Given the description of an element on the screen output the (x, y) to click on. 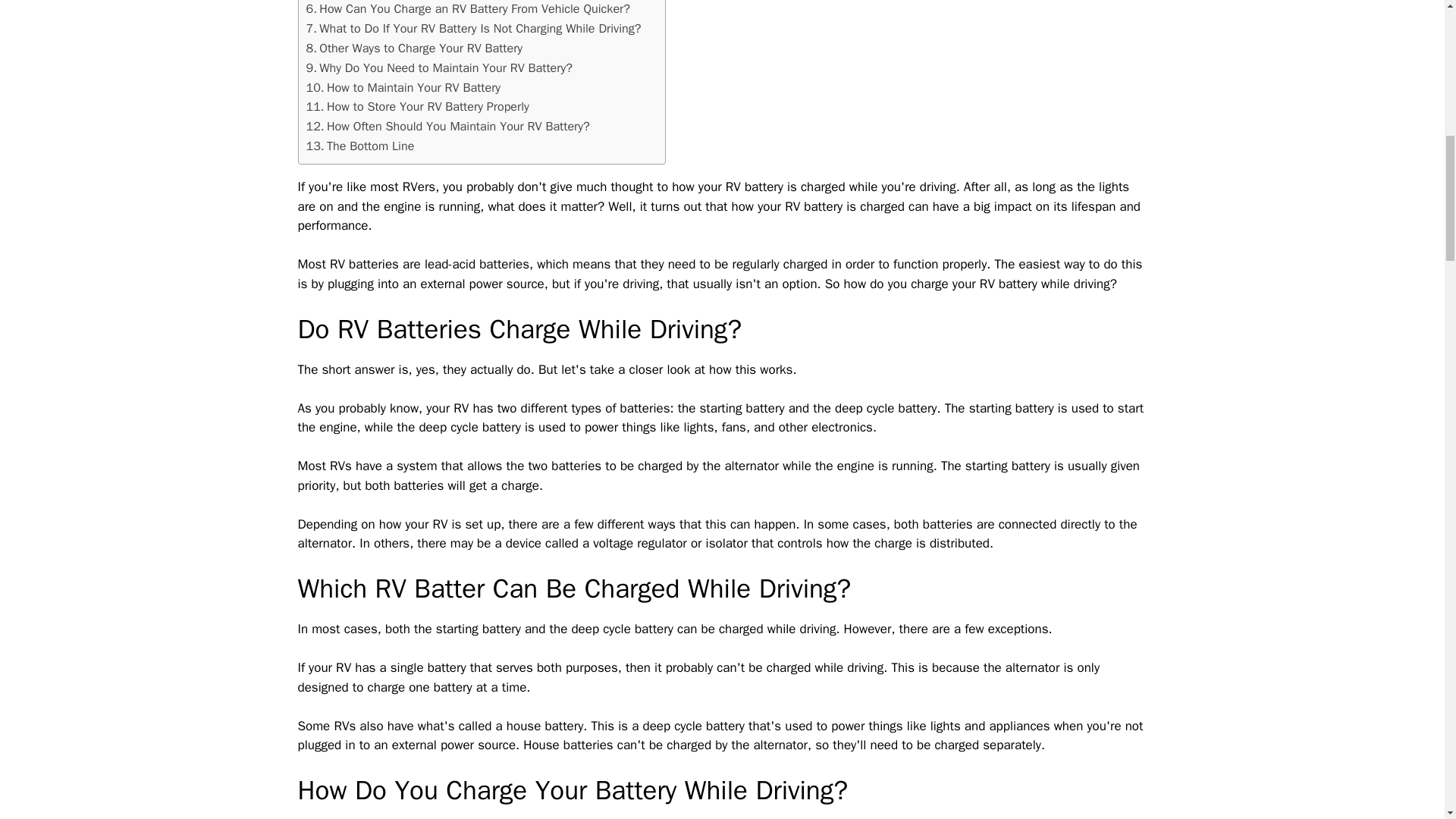
What to Do If Your RV Battery Is Not Charging While Driving? (473, 28)
How Often Should You Maintain Your RV Battery? (447, 125)
Why Do You Need to Maintain Your RV Battery? (438, 67)
How to Maintain Your RV Battery (402, 87)
Other Ways to Charge Your RV Battery (413, 48)
What to Do If Your RV Battery Is Not Charging While Driving? (473, 28)
The Bottom Line (359, 145)
How to Store Your RV Battery Properly (417, 106)
How to Store Your RV Battery Properly (417, 106)
Why Do You Need to Maintain Your RV Battery? (438, 67)
